Given the description of an element on the screen output the (x, y) to click on. 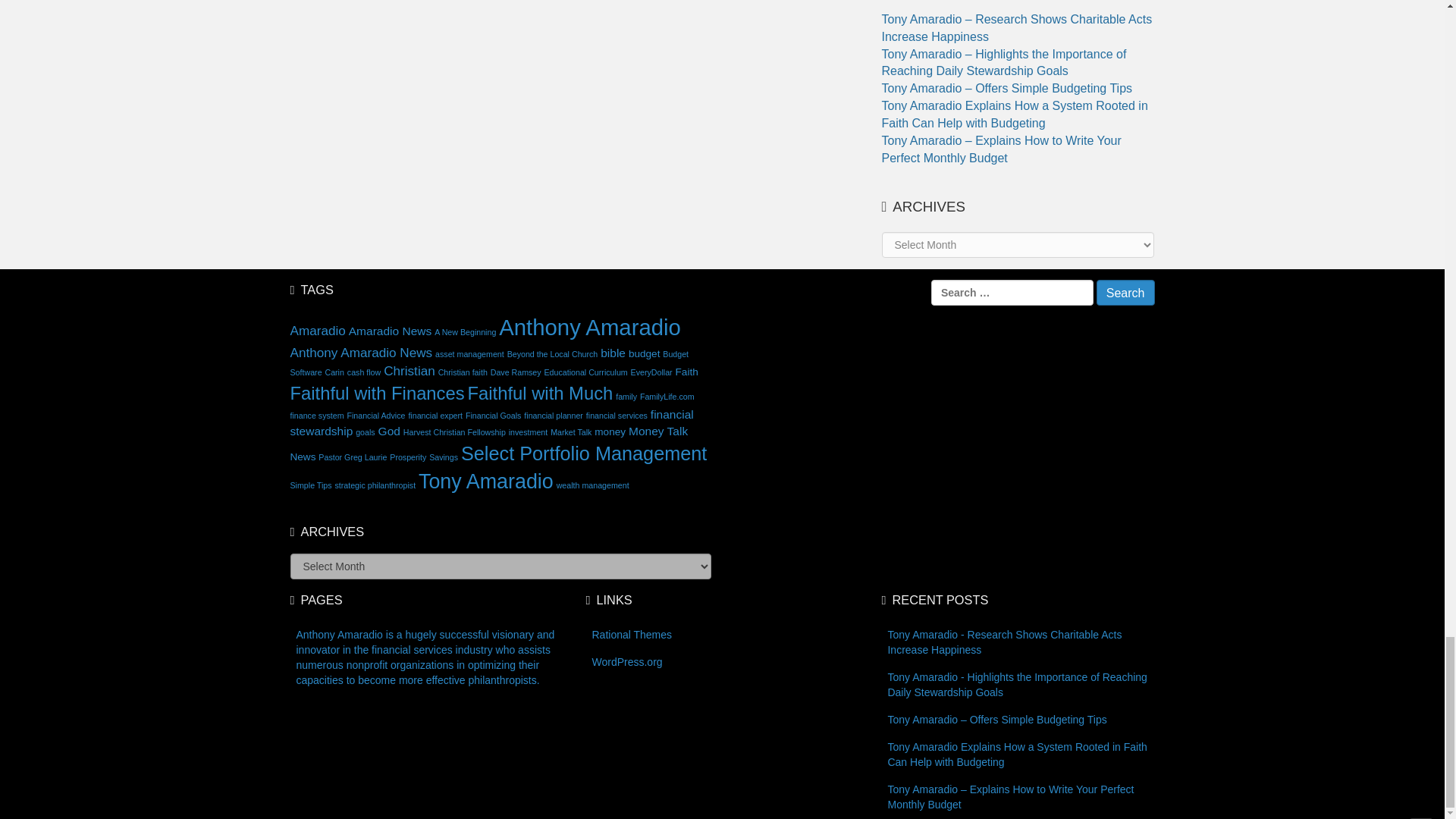
Search (1125, 292)
Search (1125, 292)
Search for: (1012, 292)
